Given the description of an element on the screen output the (x, y) to click on. 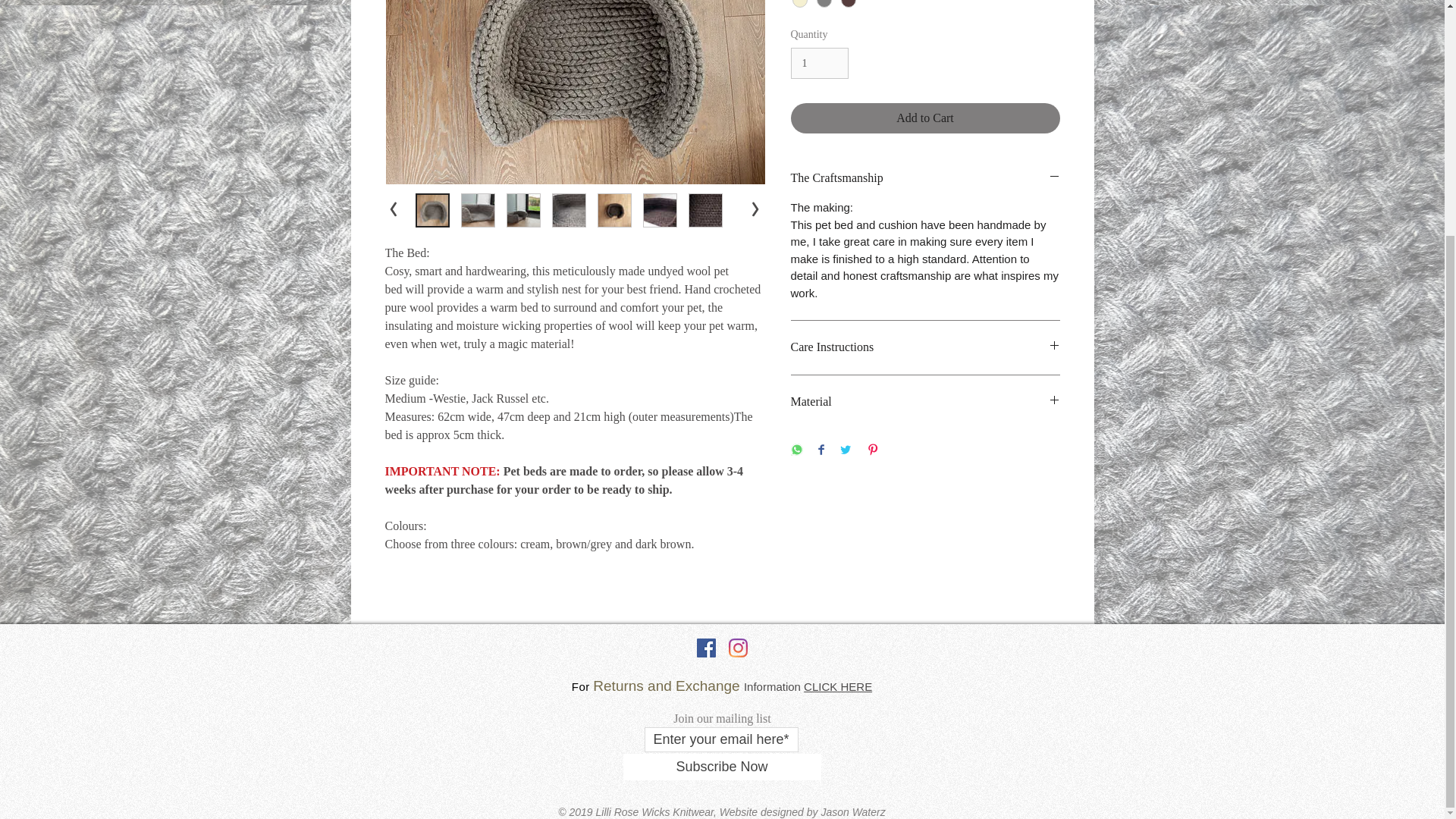
Care Instructions (924, 347)
The Craftsmanship (924, 177)
1 (818, 62)
Material (924, 401)
CLICK HERE (837, 686)
Subscribe Now (722, 766)
Add to Cart (924, 118)
